Given the description of an element on the screen output the (x, y) to click on. 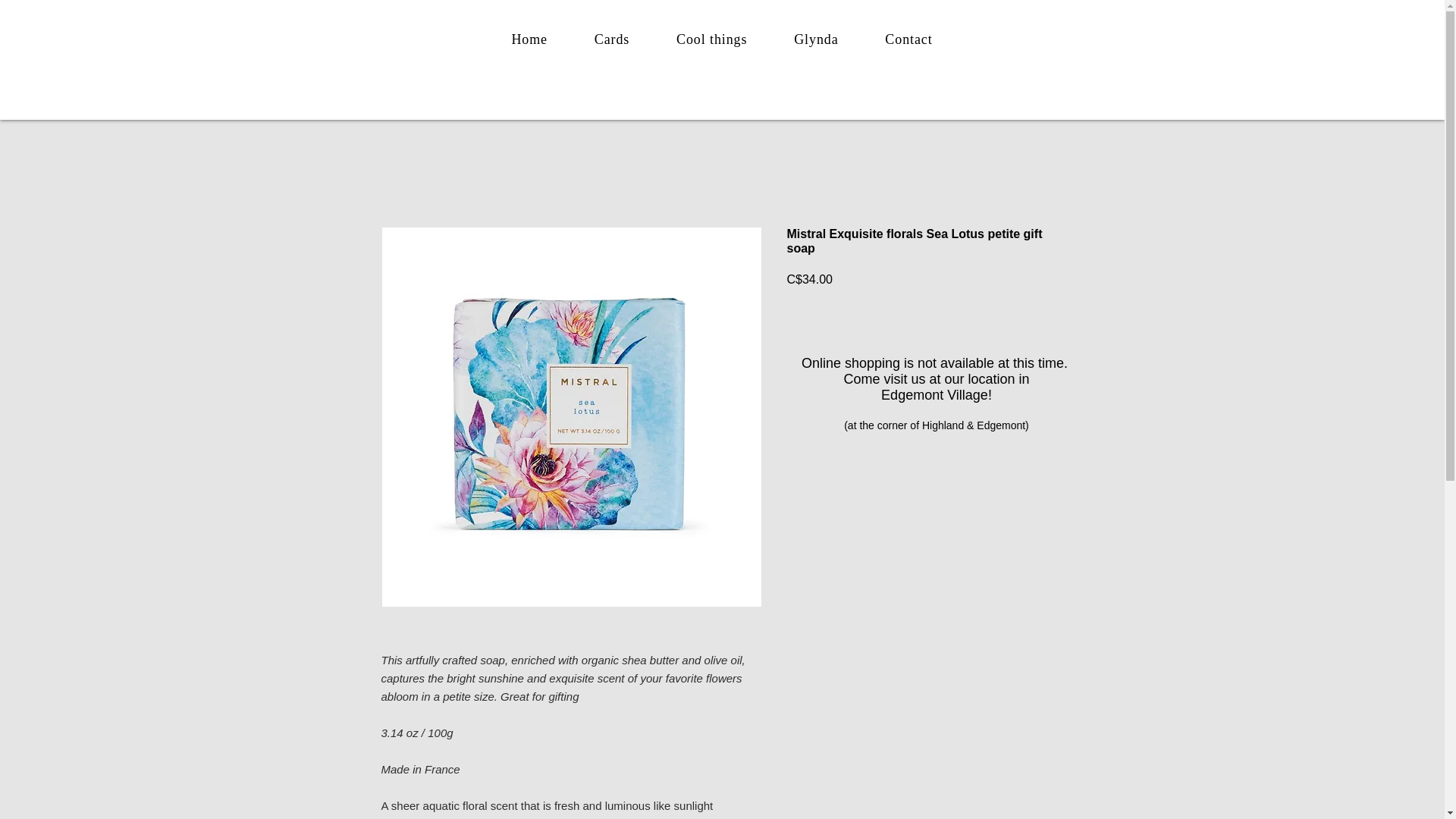
Glynda (816, 39)
Home (529, 39)
Cards (611, 39)
Cool things (711, 39)
Contact (908, 39)
